Given the description of an element on the screen output the (x, y) to click on. 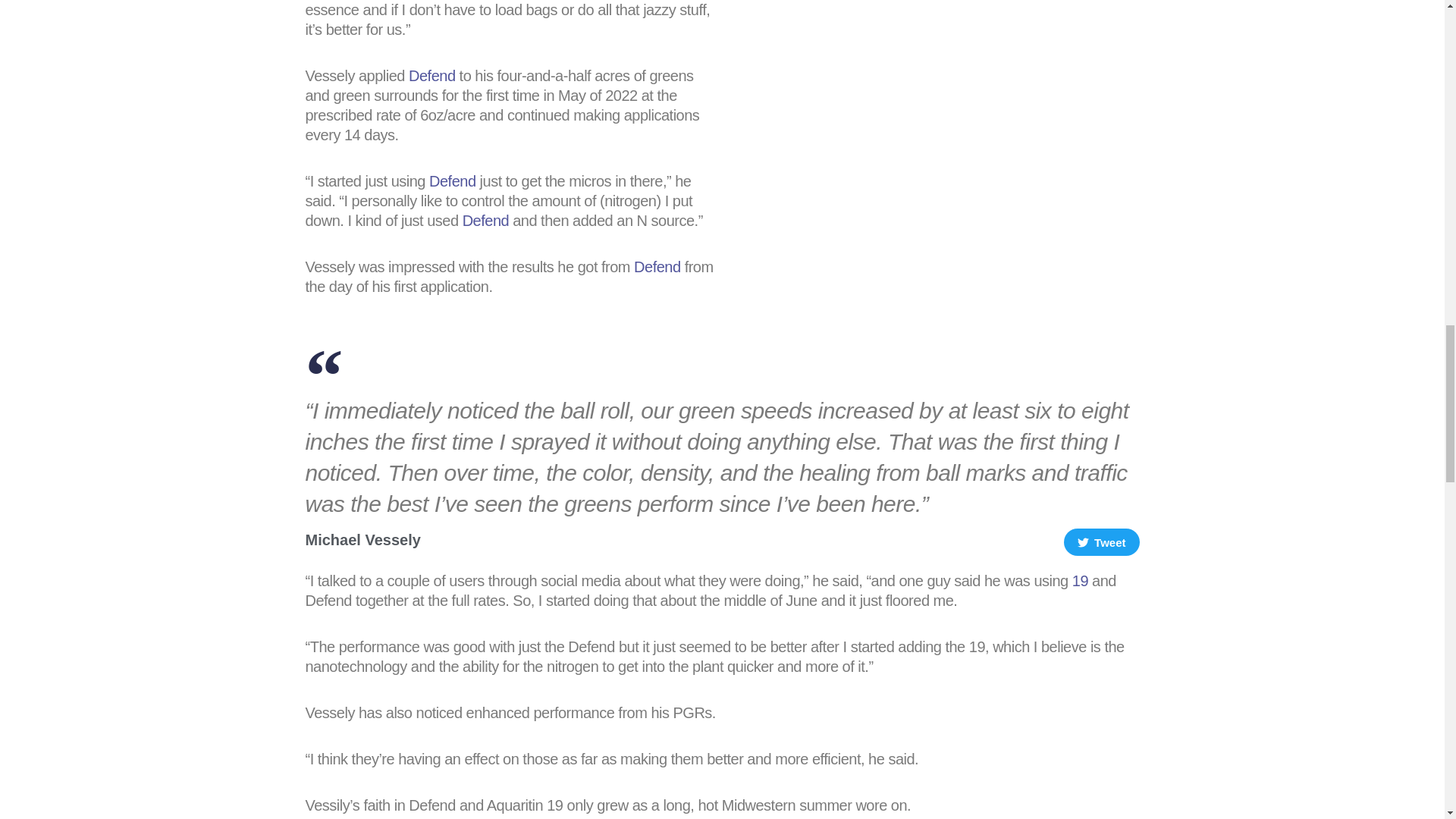
Defend (657, 266)
Defend (486, 220)
19 (1079, 580)
Defend (432, 75)
Tweet (1102, 542)
Defend (452, 180)
